Given the description of an element on the screen output the (x, y) to click on. 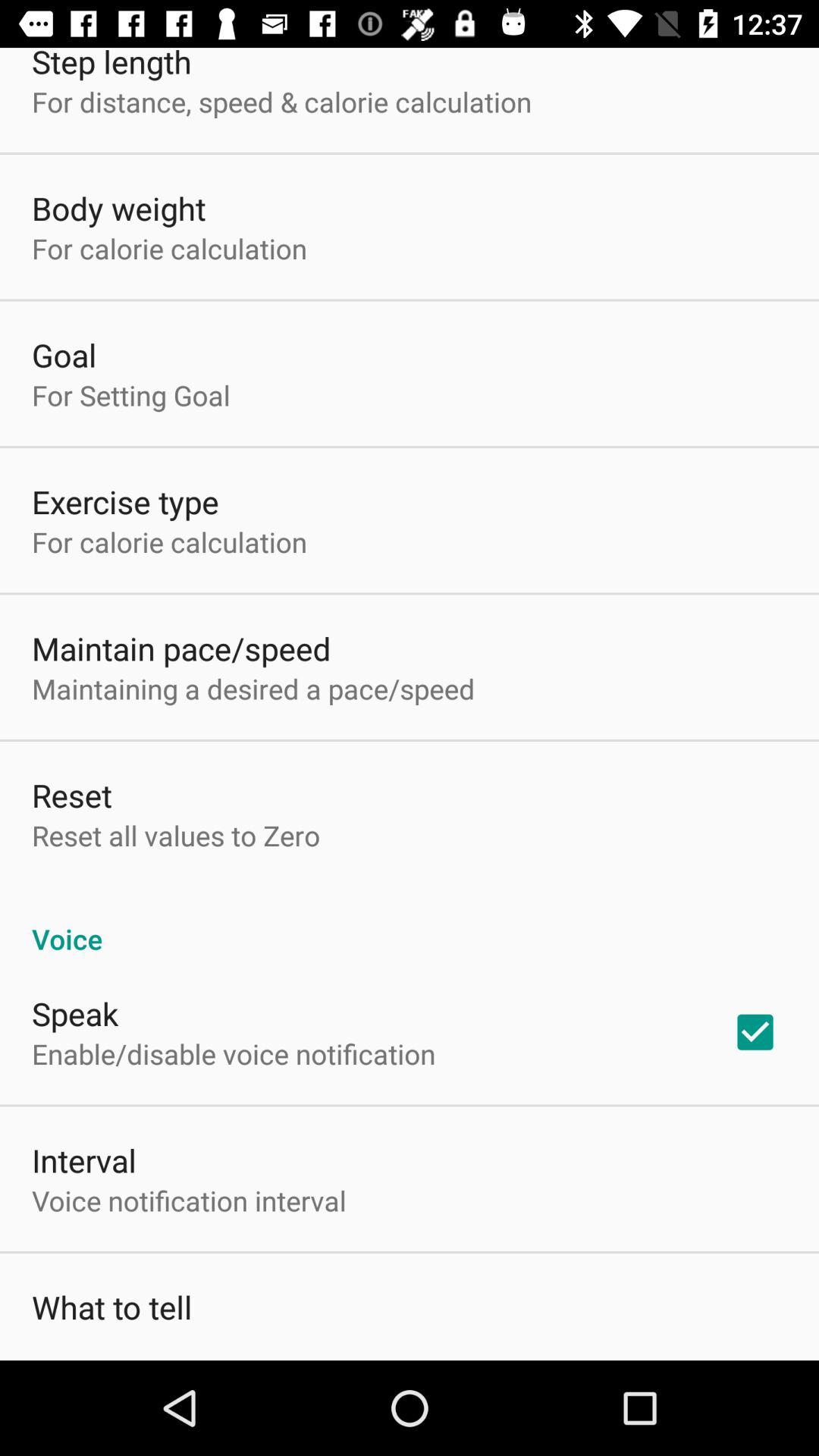
choose the icon below for setting goal icon (124, 501)
